Given the description of an element on the screen output the (x, y) to click on. 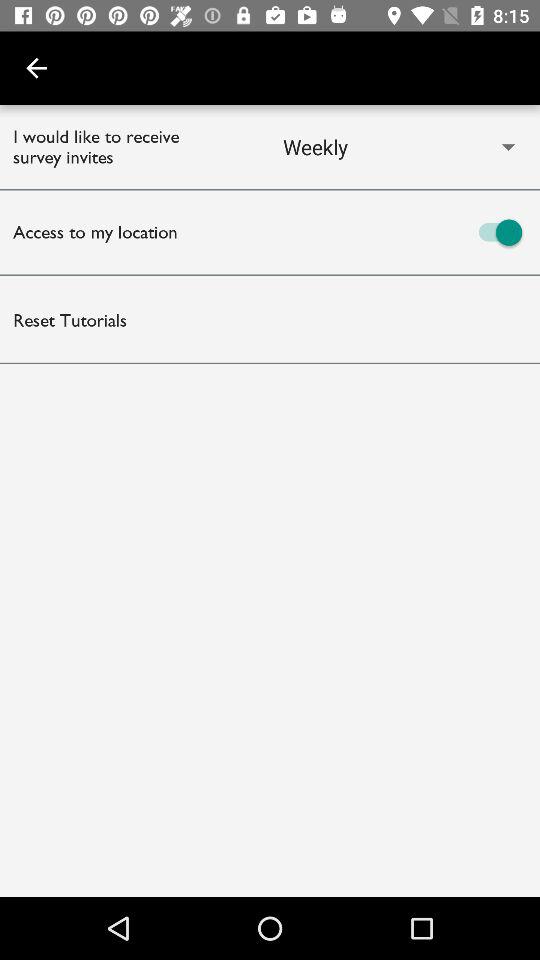
tap the item above i would like (36, 68)
